Given the description of an element on the screen output the (x, y) to click on. 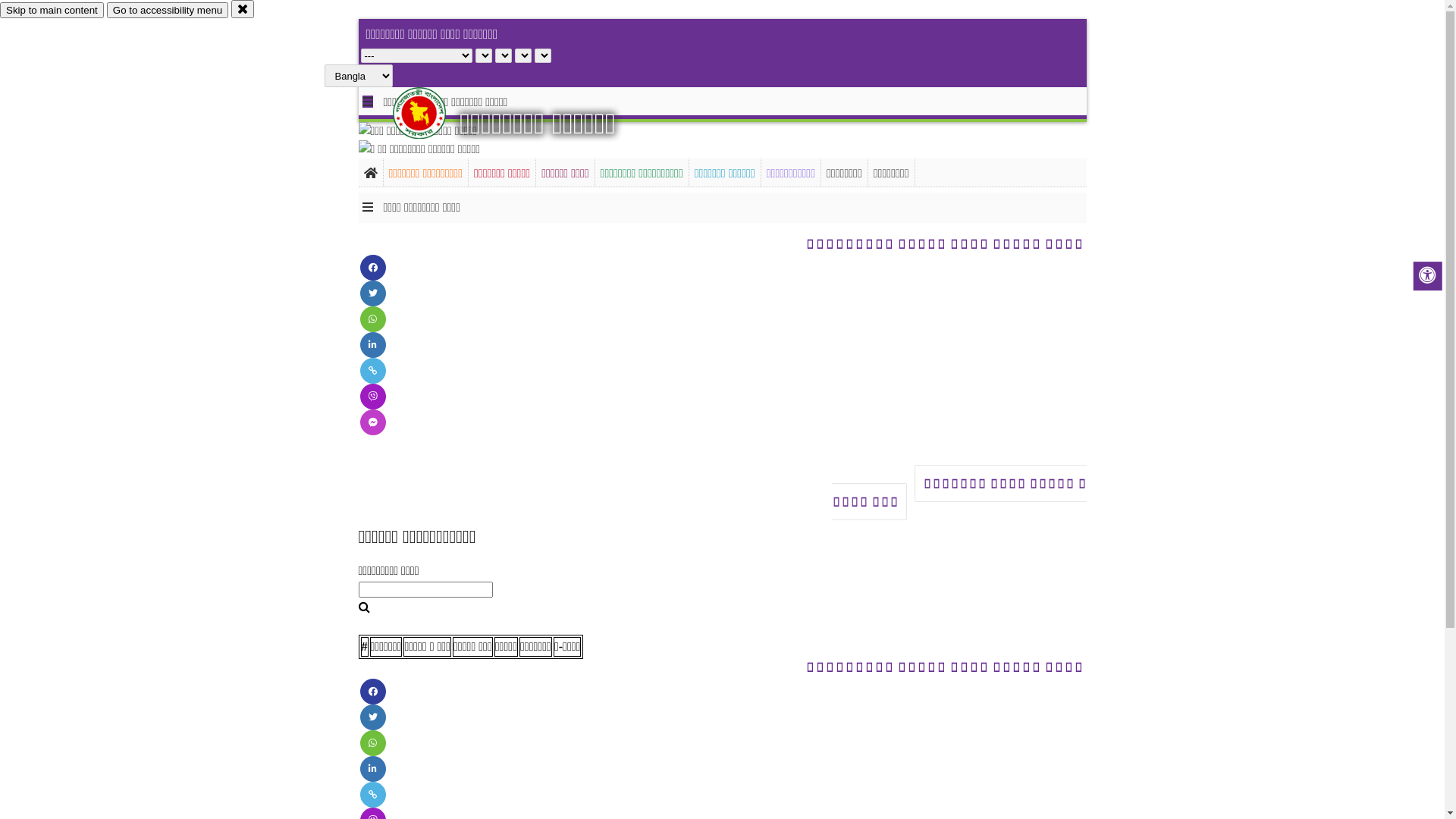

                
             Element type: hover (431, 112)
Skip to main content Element type: text (51, 10)
Go to accessibility menu Element type: text (167, 10)
close Element type: hover (242, 9)
